Given the description of an element on the screen output the (x, y) to click on. 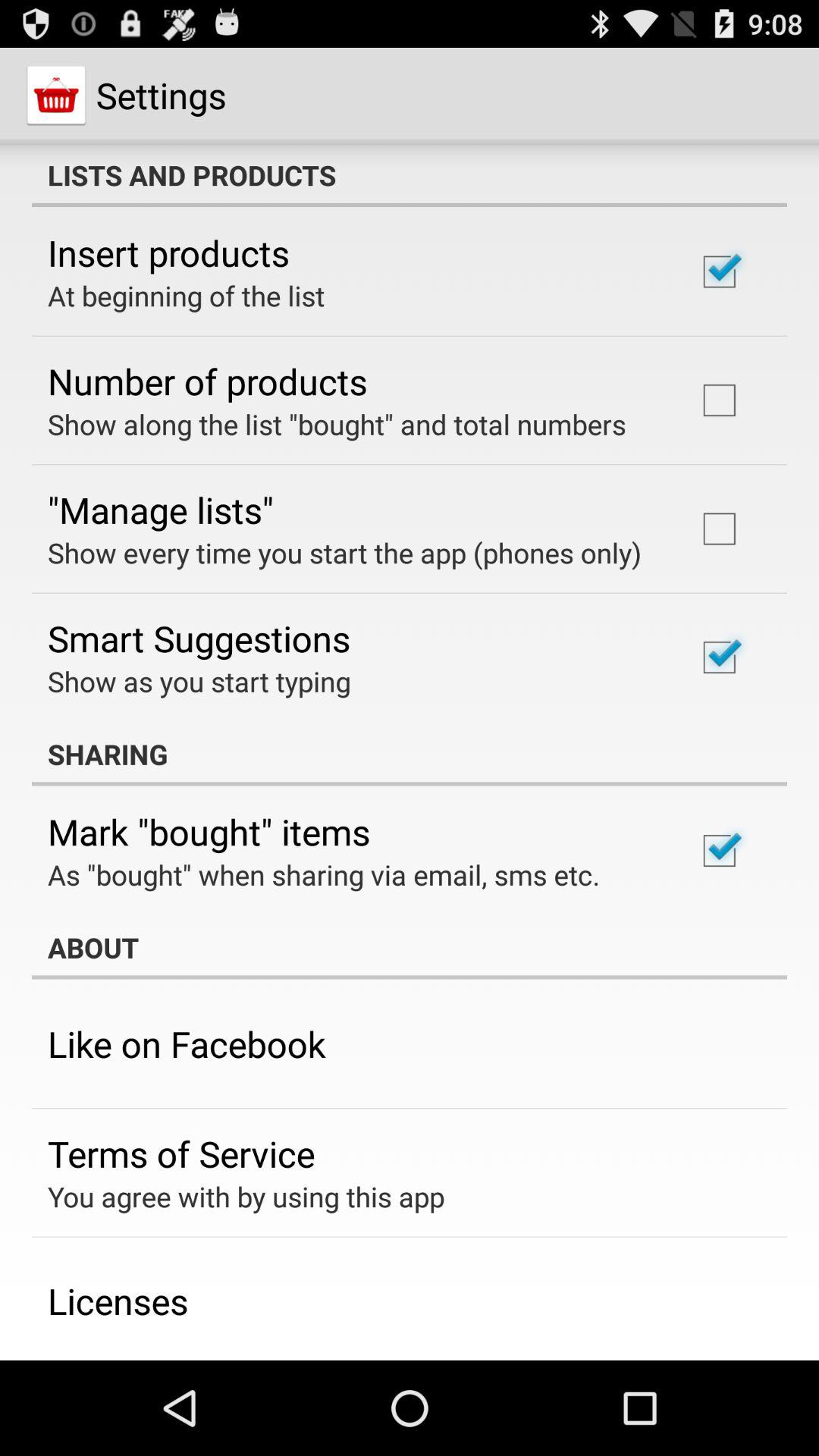
press item below the sharing icon (208, 831)
